Given the description of an element on the screen output the (x, y) to click on. 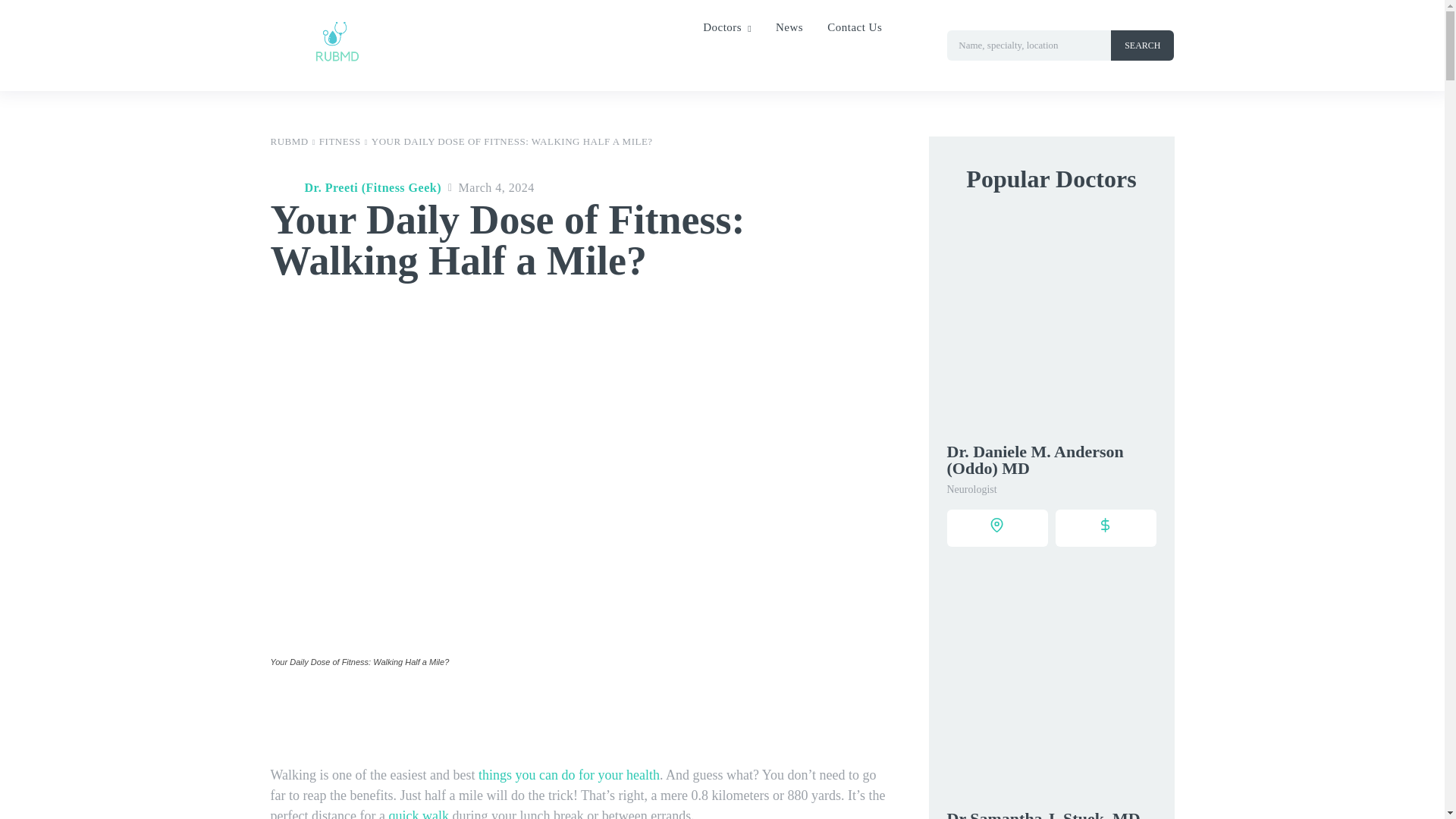
Rubmd (333, 54)
FITNESS (339, 141)
Contact Us (854, 27)
Doctors (726, 27)
RUBMD (288, 141)
News (788, 27)
View all posts in Fitness (339, 141)
SEARCH (1141, 45)
